Given the description of an element on the screen output the (x, y) to click on. 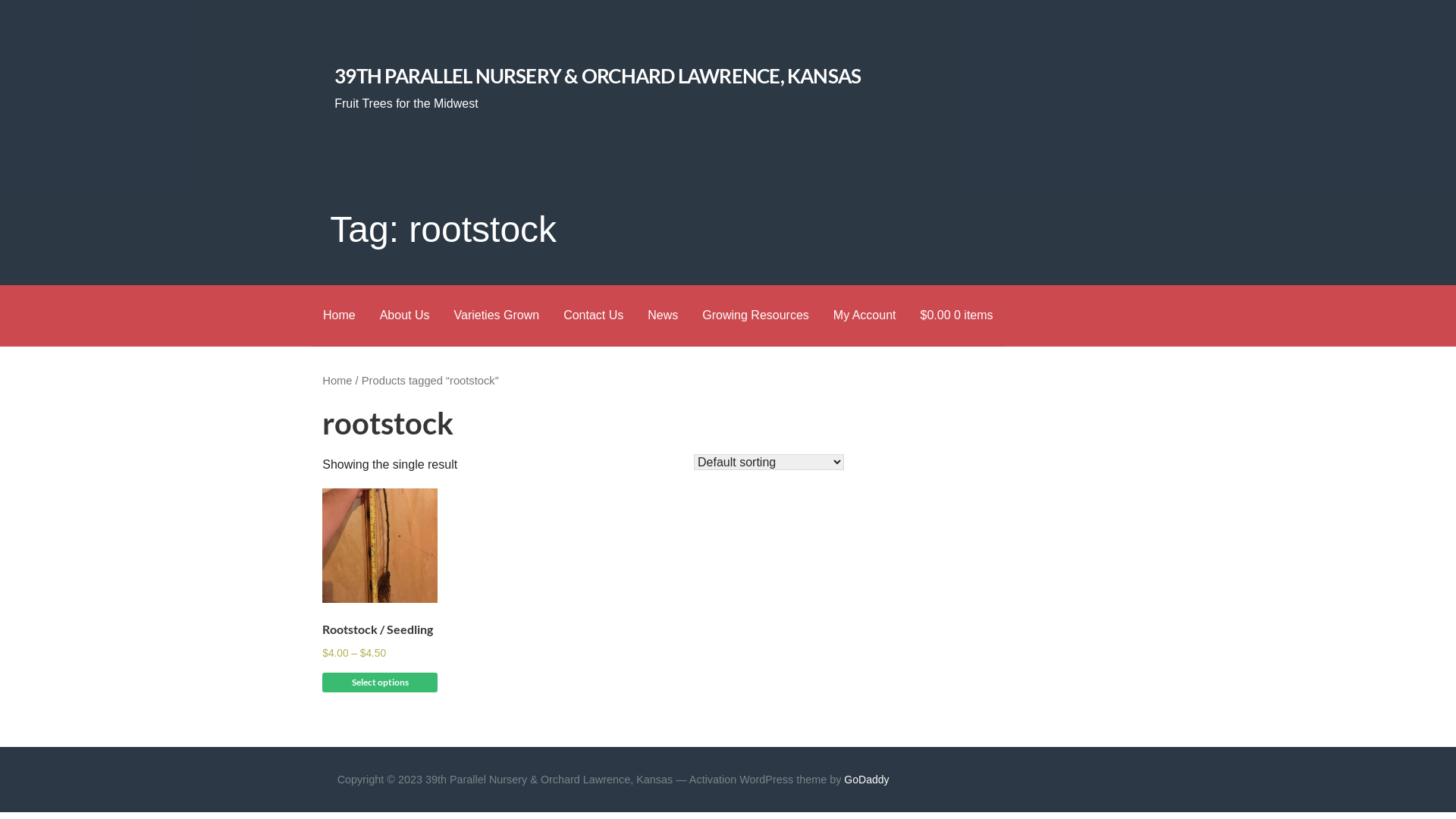
GoDaddy Element type: text (866, 779)
Home Element type: text (338, 315)
Contact Us Element type: text (593, 315)
About Us Element type: text (404, 315)
Home Element type: text (336, 380)
39TH PARALLEL NURSERY & ORCHARD LAWRENCE, KANSAS Element type: text (597, 75)
News Element type: text (662, 315)
Growing Resources Element type: text (755, 315)
Select options Element type: text (379, 682)
Varieties Grown Element type: text (496, 315)
My Account Element type: text (864, 315)
$0.00 0 items Element type: text (956, 315)
